Given the description of an element on the screen output the (x, y) to click on. 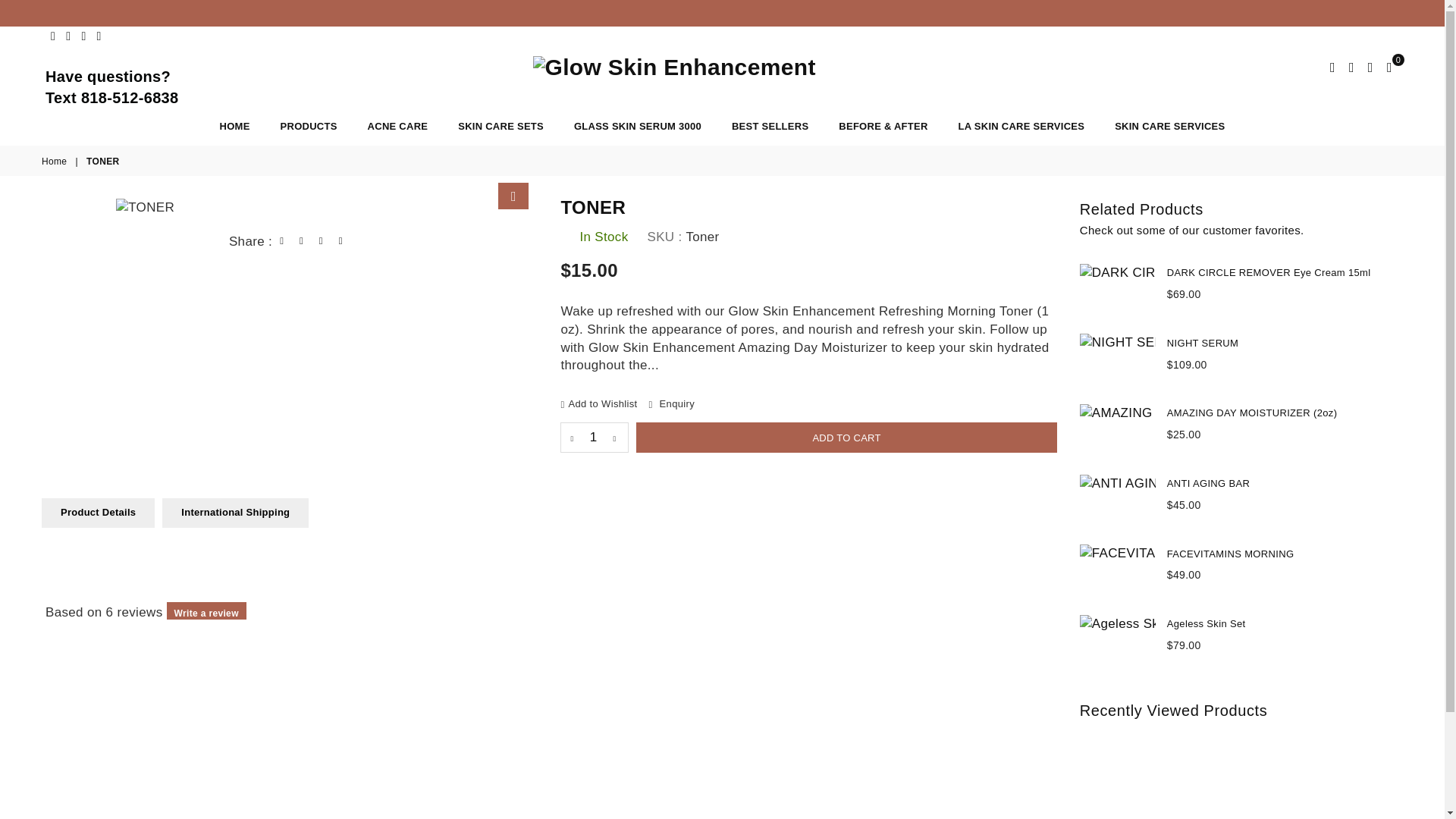
Quantity (594, 437)
PRODUCTS (309, 126)
HOME (234, 126)
ACNE CARE (398, 126)
Back to the home page (55, 161)
Glow Skin Enhancement (722, 67)
